Given the description of an element on the screen output the (x, y) to click on. 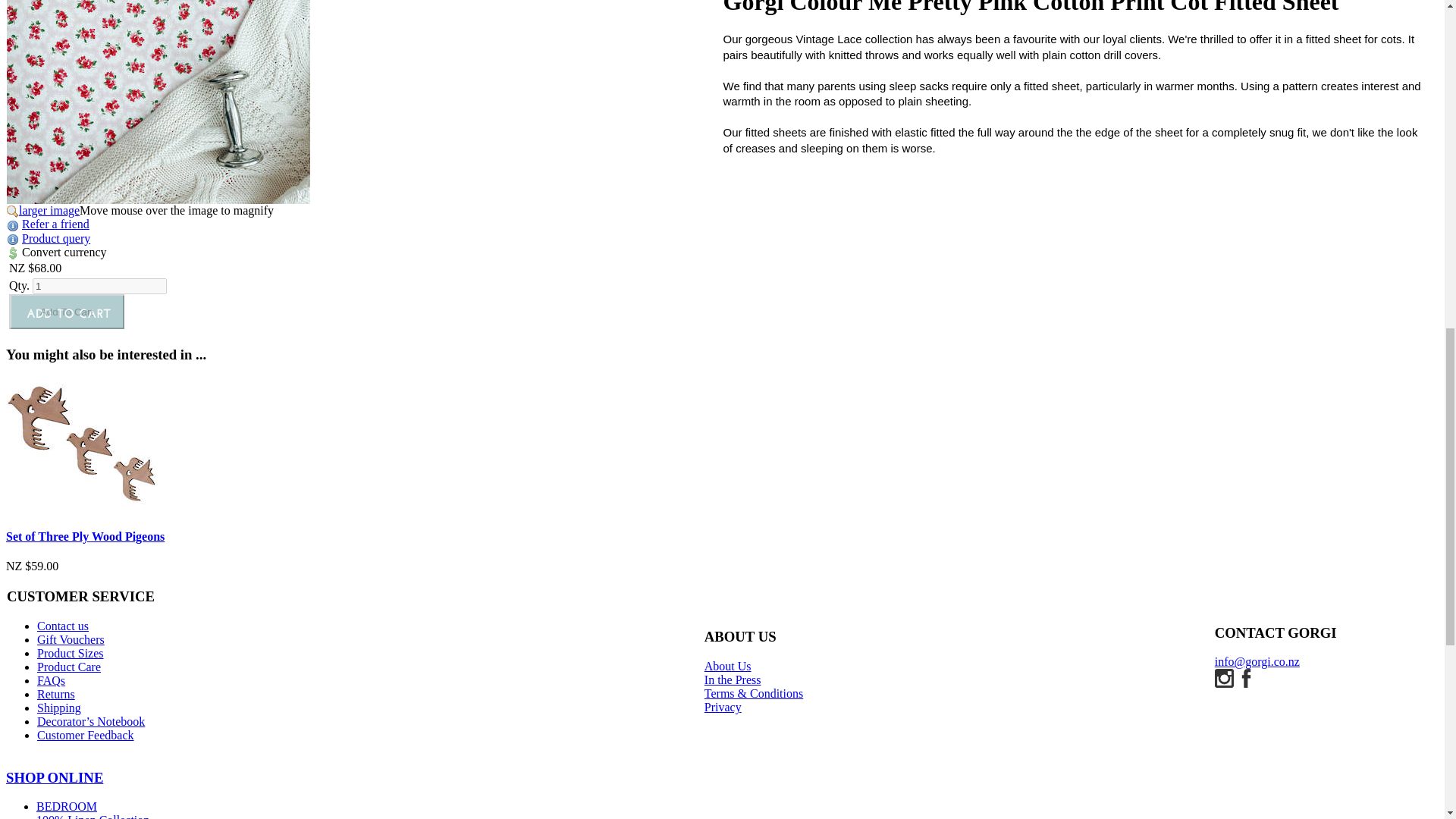
Add To Cart (65, 311)
faceb-411 (1245, 678)
instag-241 (1223, 678)
1 (99, 286)
